Given the description of an element on the screen output the (x, y) to click on. 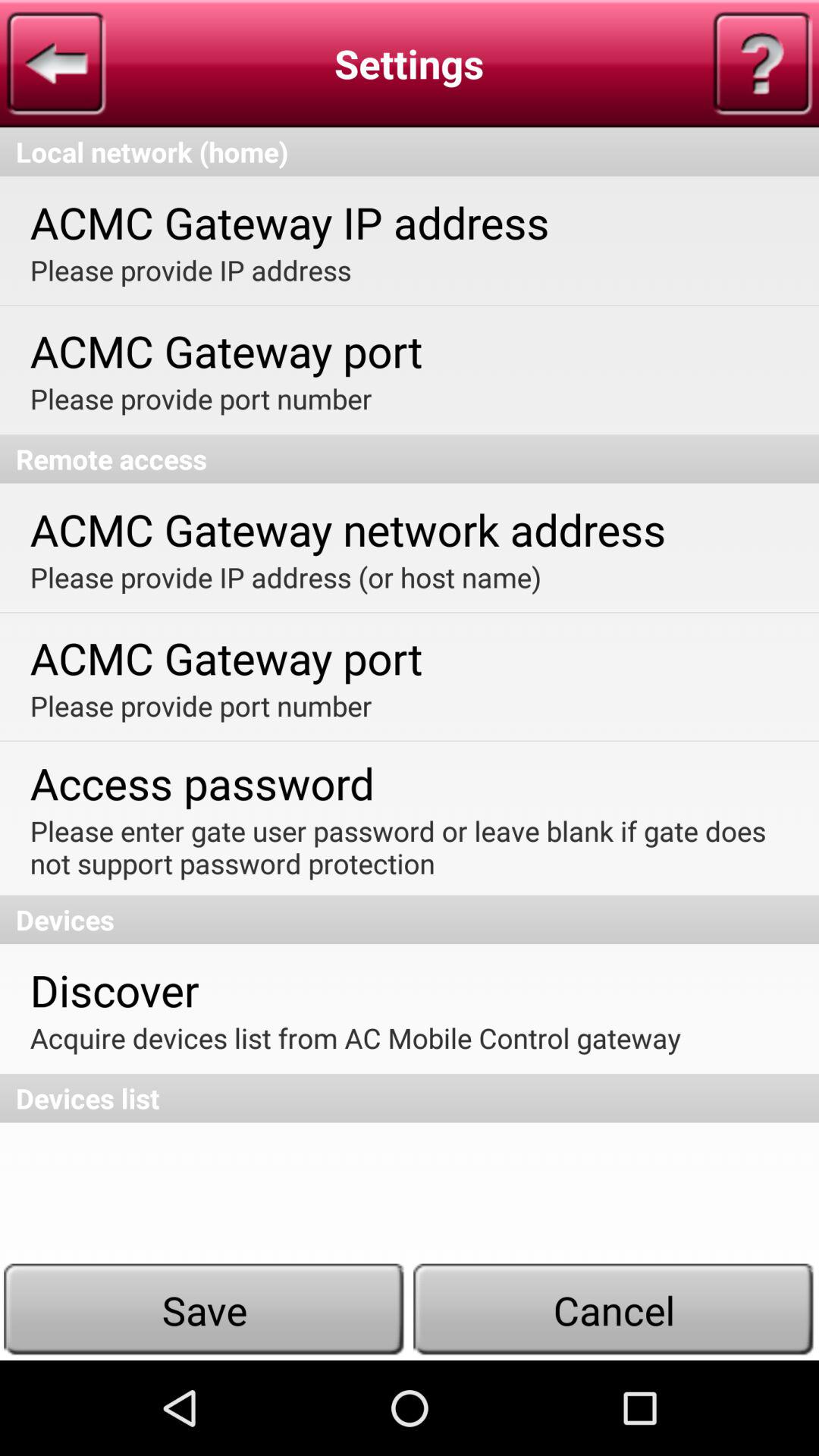
choose the please enter gate icon (408, 847)
